Given the description of an element on the screen output the (x, y) to click on. 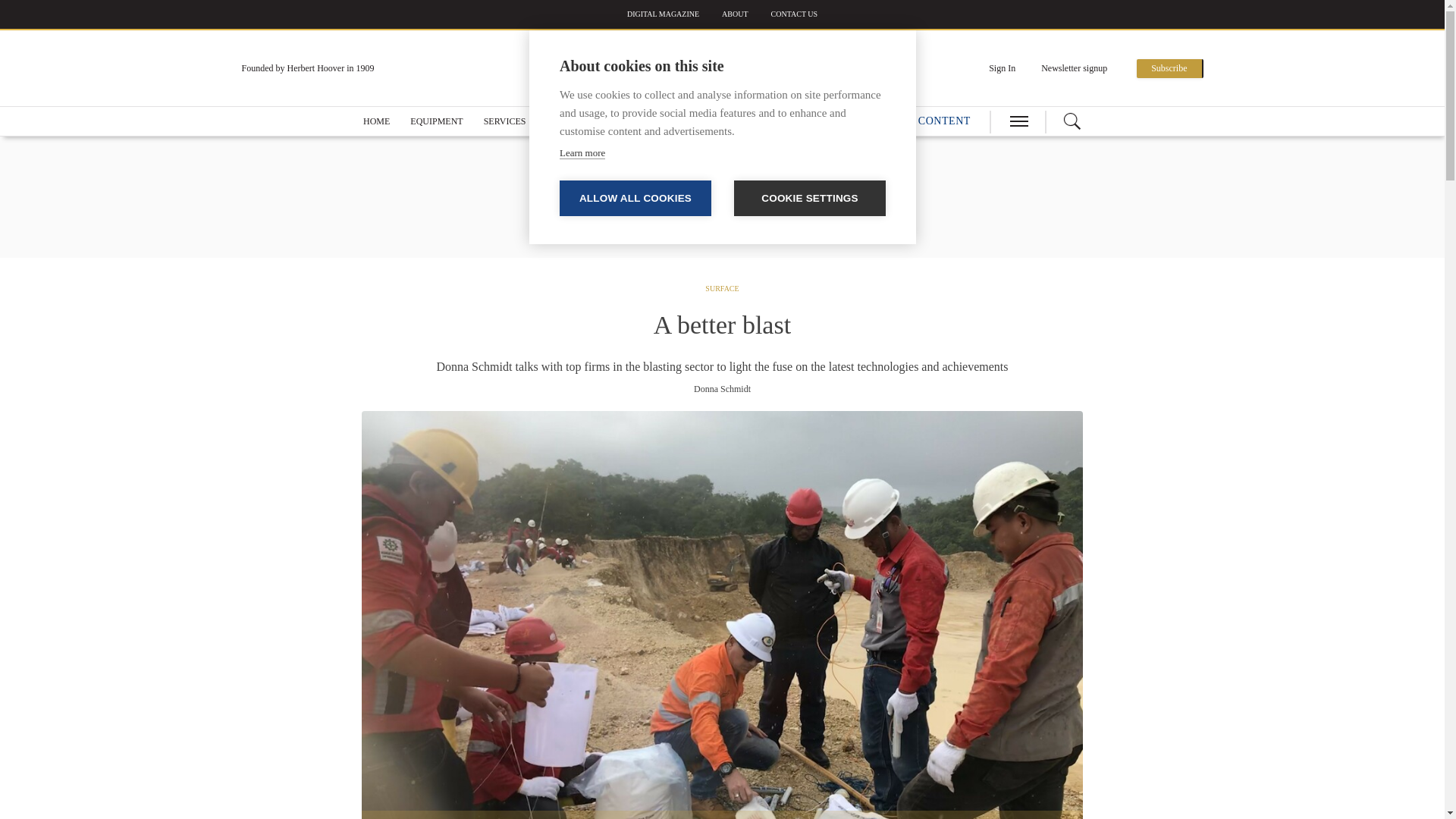
Home (376, 121)
Opinion (684, 121)
DIGITAL MAGAZINE (662, 13)
CONTACT US (794, 13)
Technology (577, 121)
ESG (637, 121)
Newsletter signup (1073, 68)
Subscribe (1169, 67)
Equipment (436, 121)
HOME (376, 121)
Learn more (582, 152)
ABOUT (735, 13)
Sign In (1001, 68)
Services (504, 121)
ALLOW ALL COOKIES (635, 198)
